Given the description of an element on the screen output the (x, y) to click on. 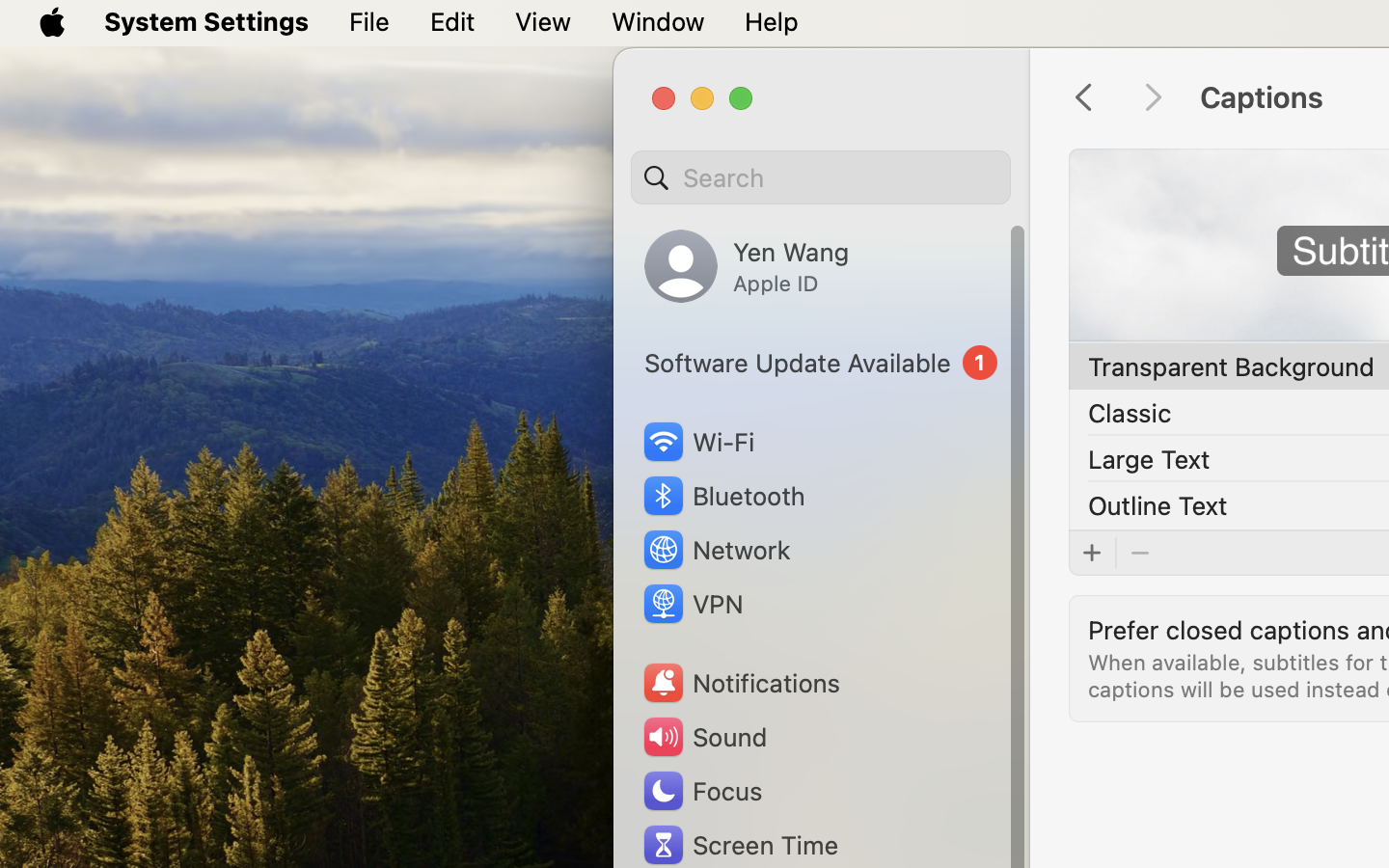
Bluetooth Element type: AXStaticText (723, 495)
Large Text Element type: AXStaticText (1148, 458)
Focus Element type: AXStaticText (701, 790)
Wi‑Fi Element type: AXStaticText (697, 441)
